Given the description of an element on the screen output the (x, y) to click on. 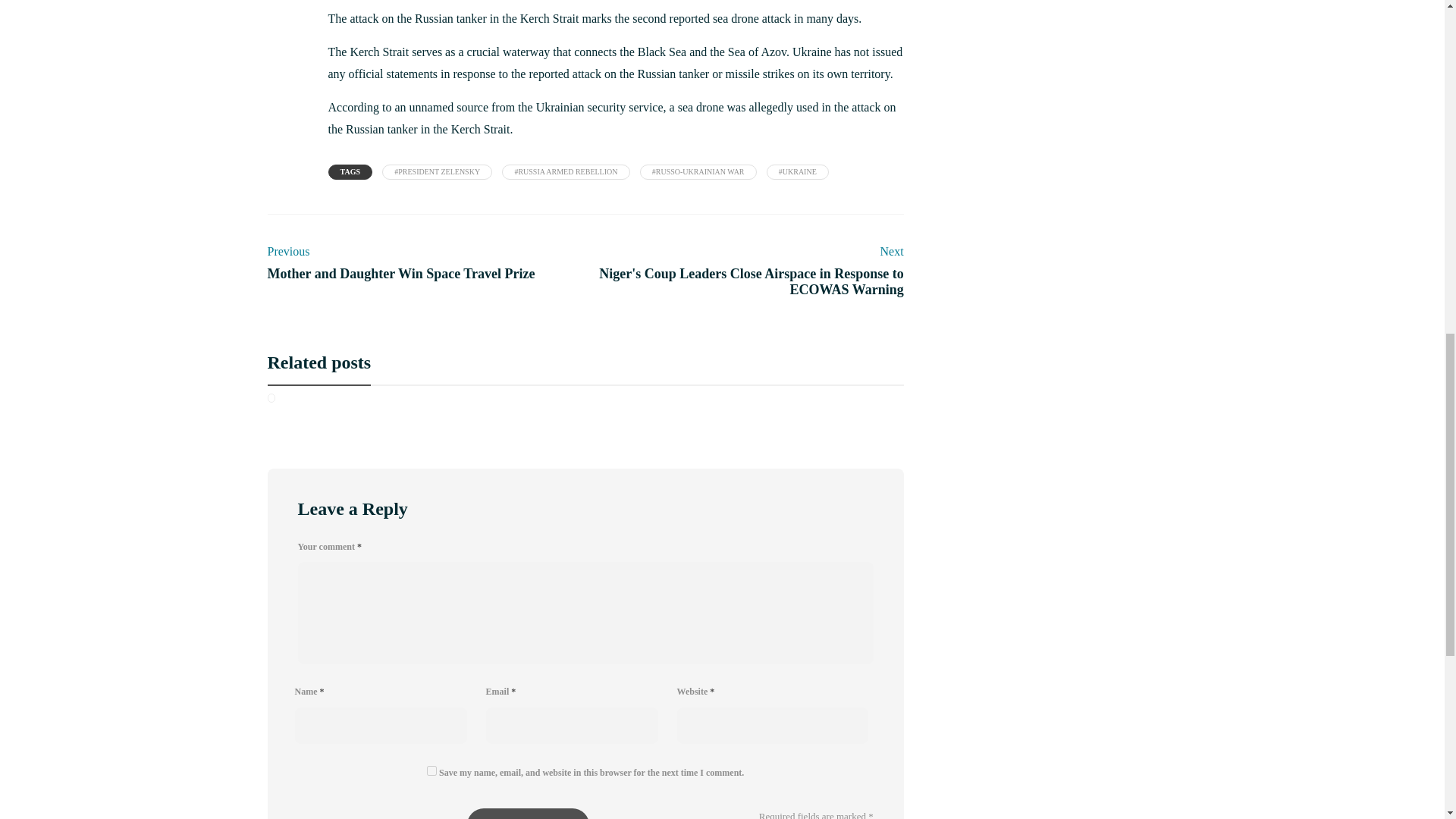
yes (431, 770)
Send a comment (528, 813)
TAGS (349, 171)
